Given the description of an element on the screen output the (x, y) to click on. 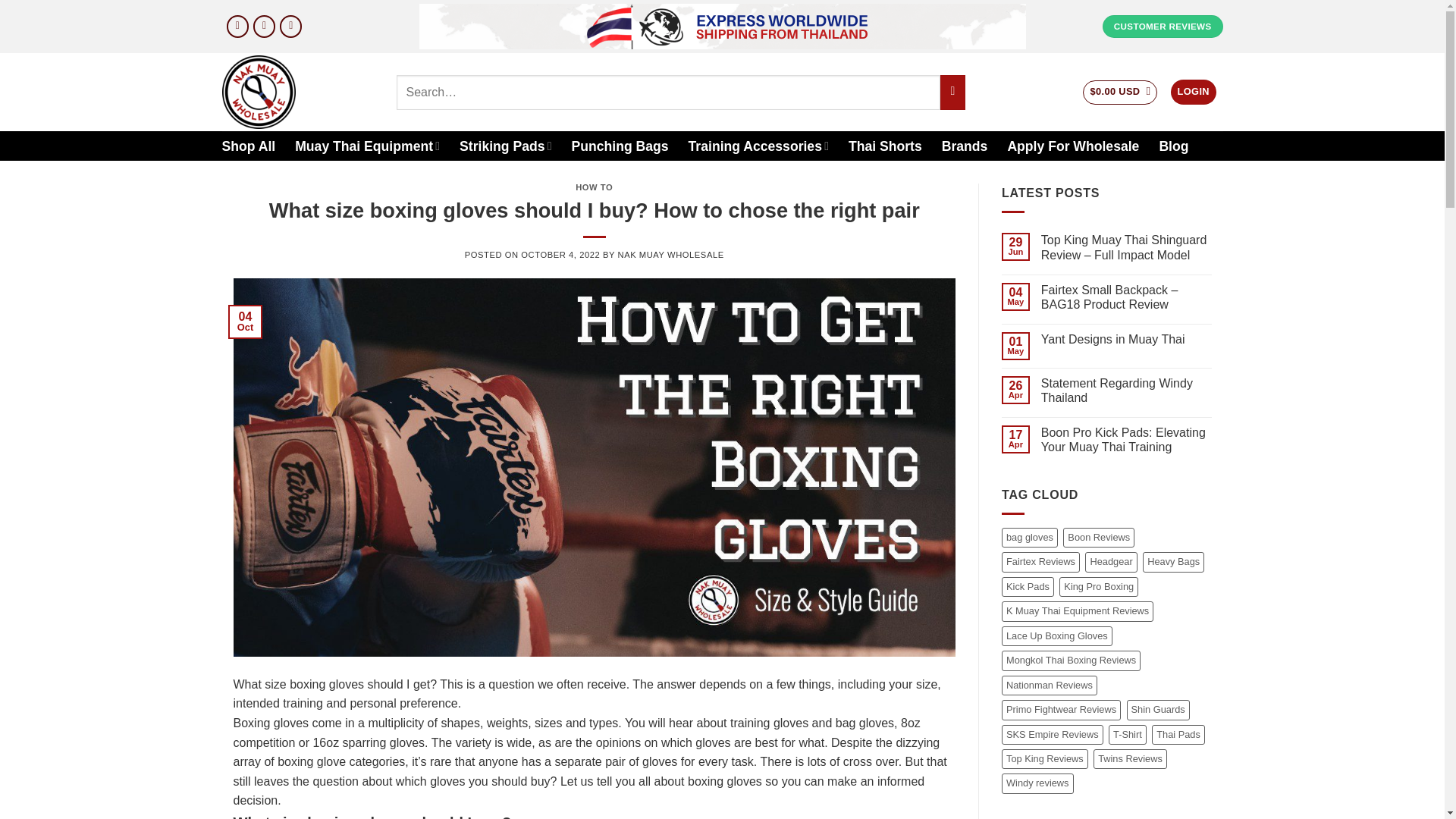
CUSTOMER REVIEWS (1162, 26)
Blog (1173, 146)
Training Accessories (758, 145)
Apply For Wholesale (1072, 146)
Cart (1120, 92)
Thai Shorts (884, 146)
HOW TO (593, 186)
Brands (965, 146)
Striking Pads (505, 145)
